Given the description of an element on the screen output the (x, y) to click on. 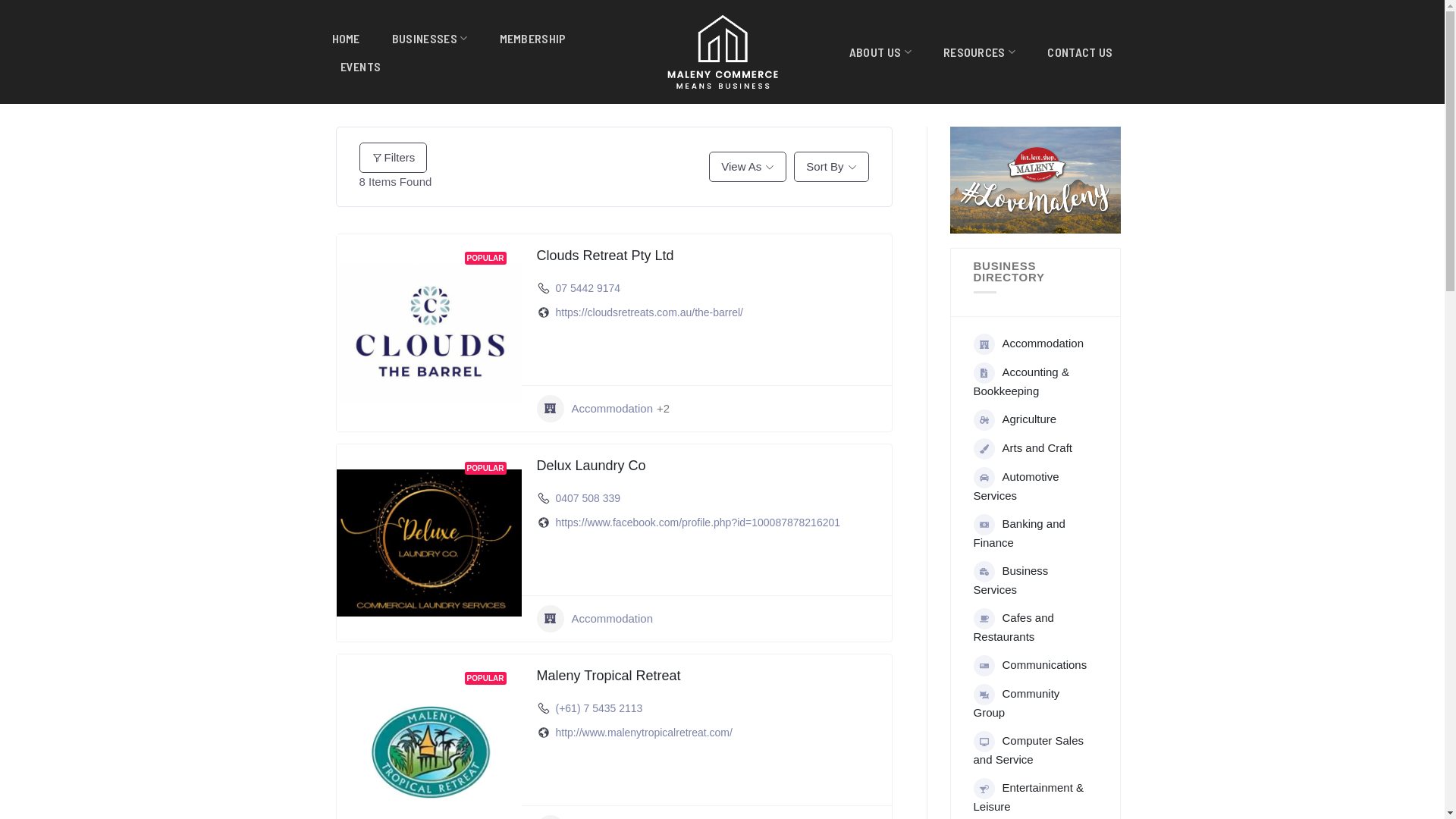
Filters Element type: text (393, 157)
Cafes and Restaurants Element type: text (1032, 626)
Communications Element type: text (1030, 663)
EVENTS Element type: text (359, 66)
RESOURCES Element type: text (979, 51)
BUSINESSES Element type: text (429, 38)
Accommodation Element type: text (594, 618)
Computer Sales and Service Element type: text (1032, 748)
Clouds Retreat Pty Ltd Element type: text (605, 255)
View As Element type: text (747, 166)
(+61) 7 5435 2113 Element type: text (598, 707)
Delux Laundry Co Element type: text (591, 465)
Agriculture Element type: text (1015, 418)
07 5442 9174 Element type: text (587, 287)
HOME Element type: text (346, 37)
Maleny Tropical Retreat Element type: text (608, 675)
https://www.facebook.com/profile.php?id=100087878216201 Element type: text (697, 522)
MEMBERSHIP Element type: text (531, 37)
Arts and Craft Element type: text (1023, 447)
Sort By Element type: text (830, 166)
Accommodation Element type: text (594, 408)
Community Group Element type: text (1032, 701)
Business Services Element type: text (1032, 579)
Banking and Finance Element type: text (1032, 532)
Accounting & Bookkeeping Element type: text (1032, 380)
CONTACT US Element type: text (1079, 51)
https://cloudsretreats.com.au/the-barrel/ Element type: text (648, 312)
http://www.malenytropicalretreat.com/ Element type: text (643, 732)
Automotive Services Element type: text (1032, 485)
ABOUT US Element type: text (880, 51)
0407 508 339 Element type: text (587, 497)
Accommodation Element type: text (1028, 342)
Entertainment & Leisure Element type: text (1032, 795)
